Given the description of an element on the screen output the (x, y) to click on. 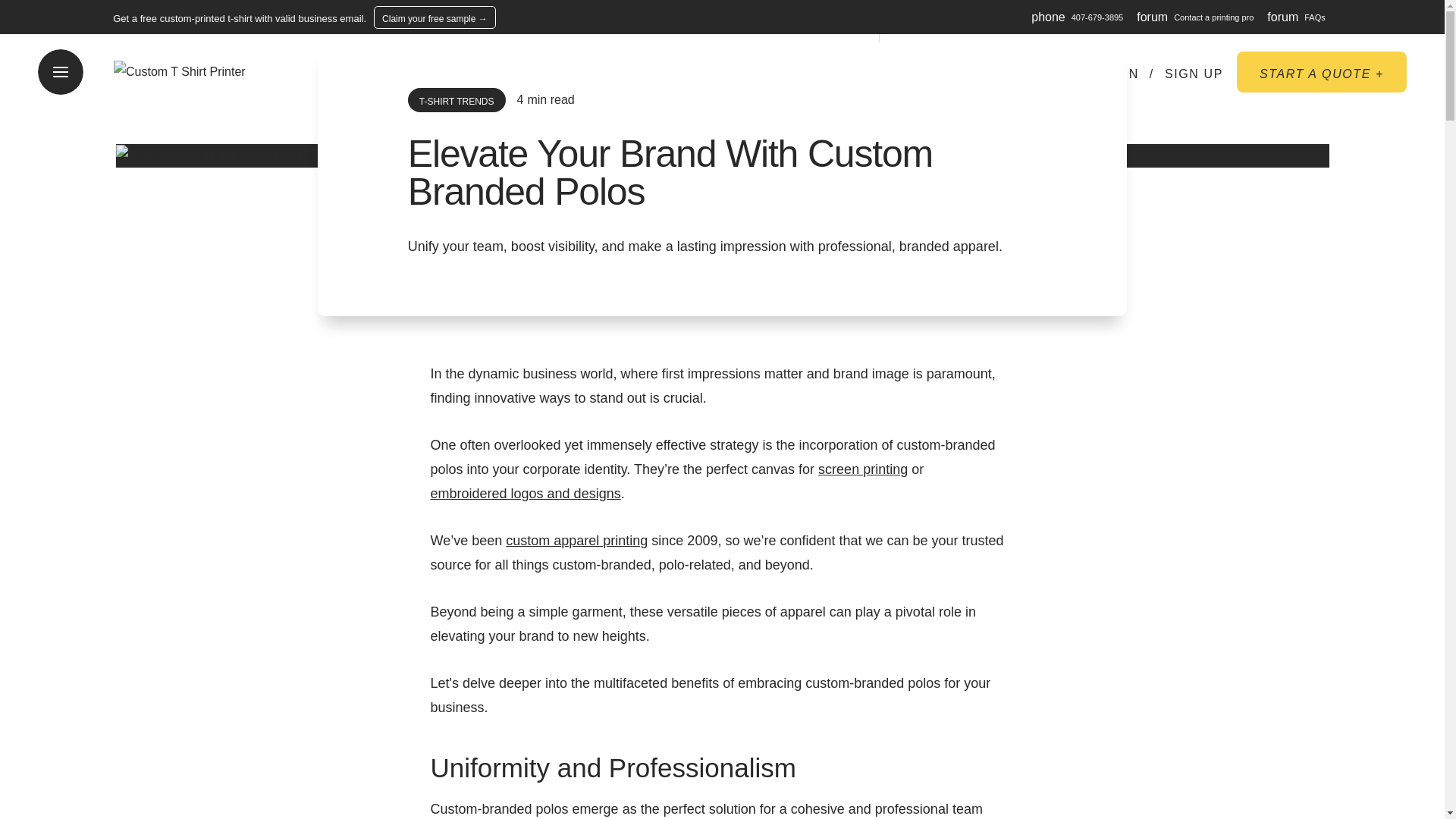
Contact a printing pro (1213, 17)
SIGN UP (1193, 74)
LOG IN (1114, 74)
Get a free custom-printed t-shirt with valid business email. (239, 18)
FAQs (1314, 17)
407-679-3895 (1097, 17)
